Given the description of an element on the screen output the (x, y) to click on. 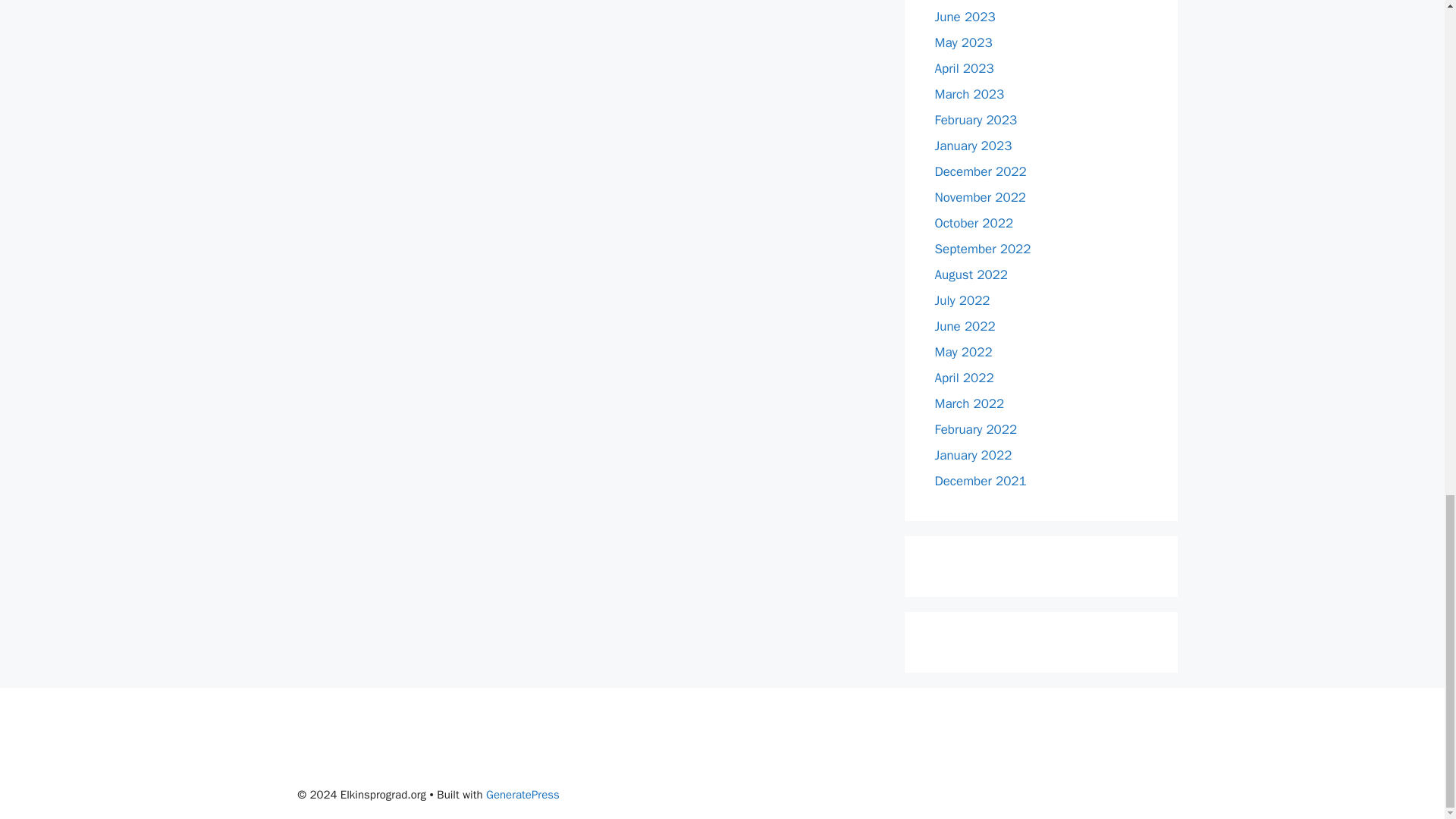
December 2022 (980, 171)
October 2022 (973, 222)
March 2023 (969, 94)
November 2022 (980, 197)
June 2023 (964, 17)
February 2023 (975, 119)
May 2023 (962, 42)
January 2023 (972, 145)
September 2022 (982, 248)
April 2023 (963, 68)
